Given the description of an element on the screen output the (x, y) to click on. 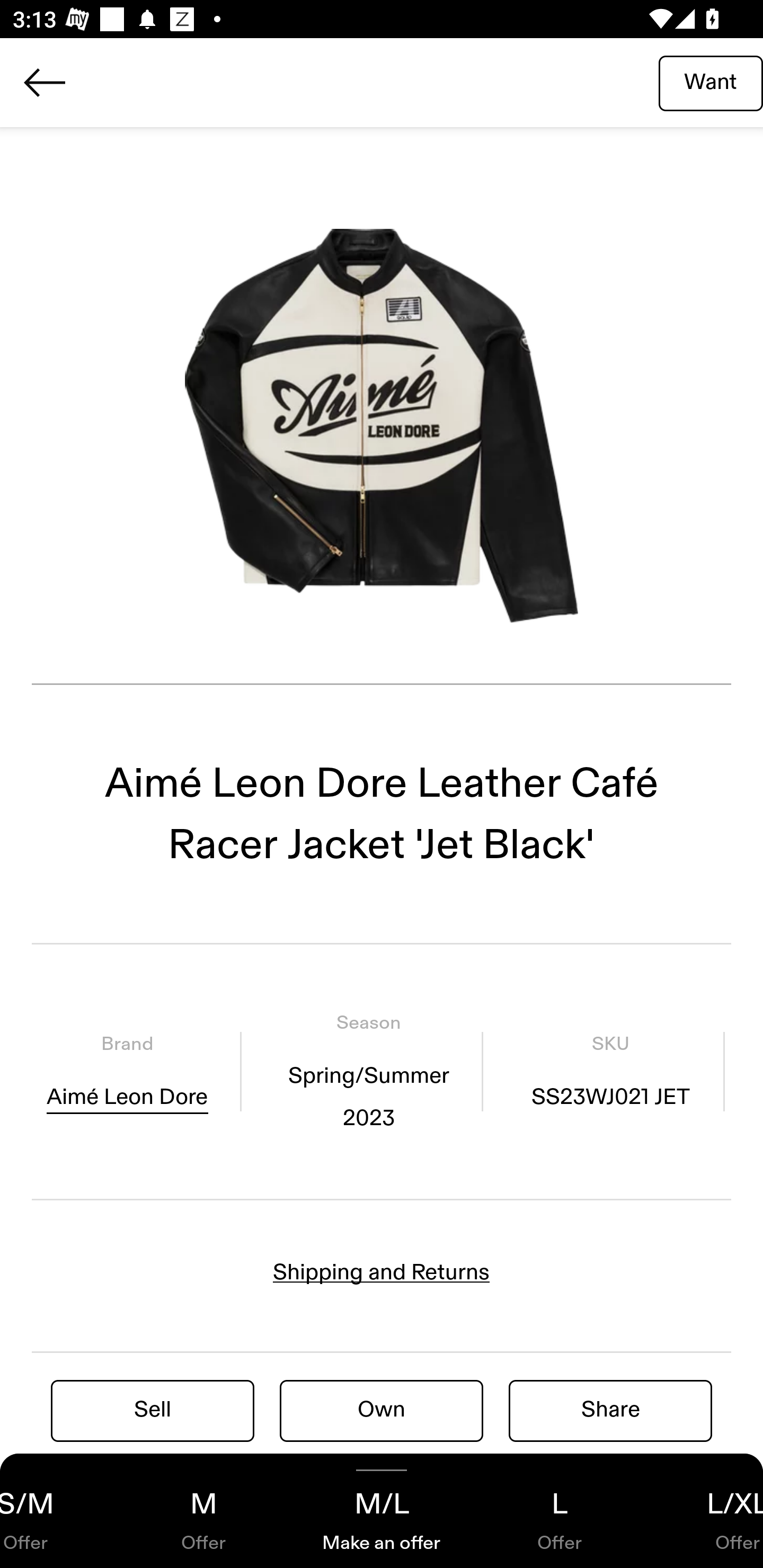
Want (710, 82)
Brand Aimé Leon Dore (126, 1070)
Season Spring/Summer 2023 (368, 1070)
SKU SS23WJ021 JET (609, 1070)
Shipping and Returns (381, 1272)
Sell (152, 1410)
Own (381, 1410)
Share (609, 1410)
S/M Offer (57, 1510)
M Offer (203, 1510)
M/L Make an offer (381, 1510)
L Offer (559, 1510)
L/XL Offer (705, 1510)
